Given the description of an element on the screen output the (x, y) to click on. 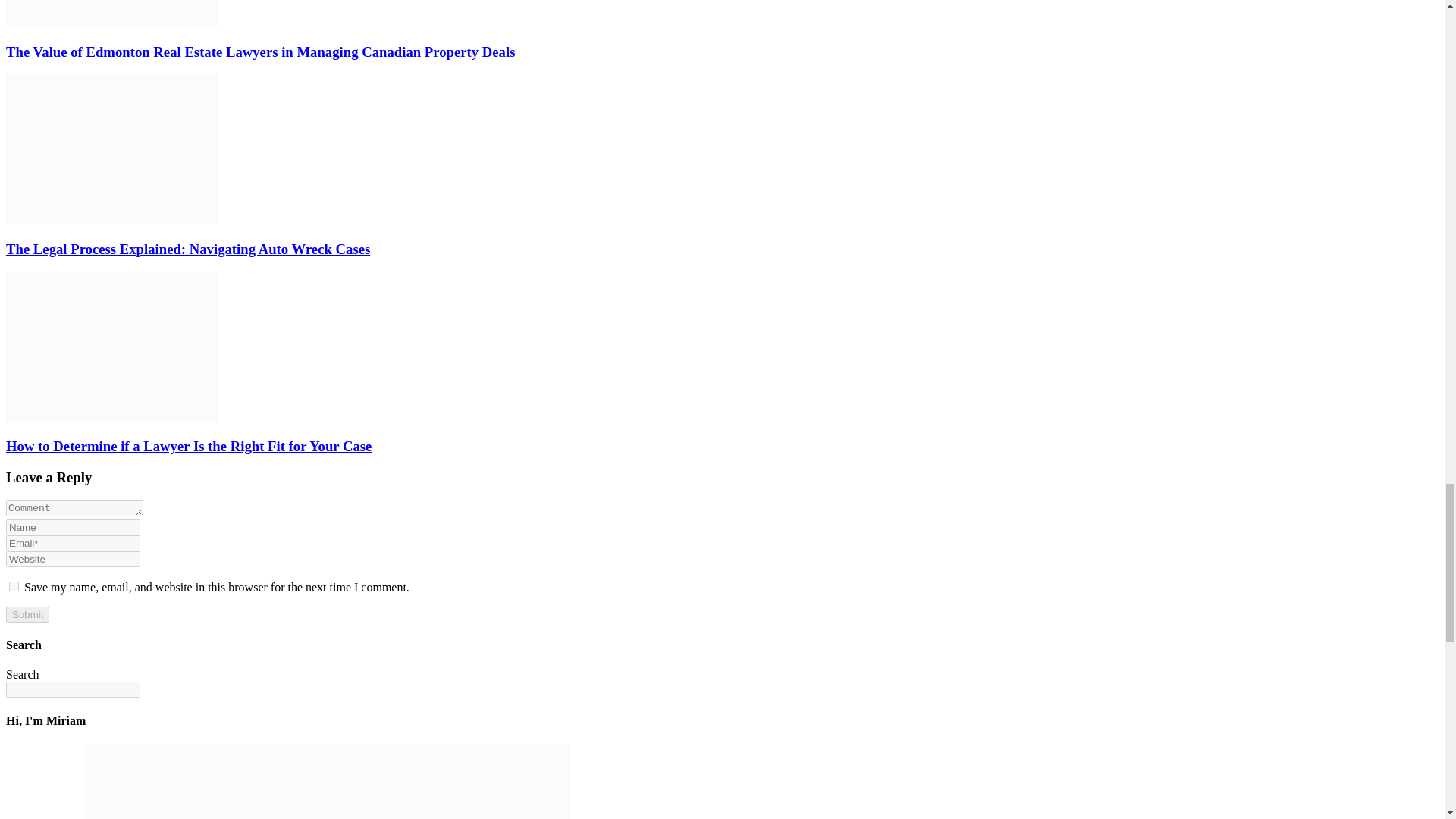
How to Determine if a Lawyer Is the Right Fit for Your Case (188, 446)
yes (13, 586)
Submit (27, 614)
The Legal Process Explained: Navigating Auto Wreck Cases (187, 248)
Submit (27, 614)
